Given the description of an element on the screen output the (x, y) to click on. 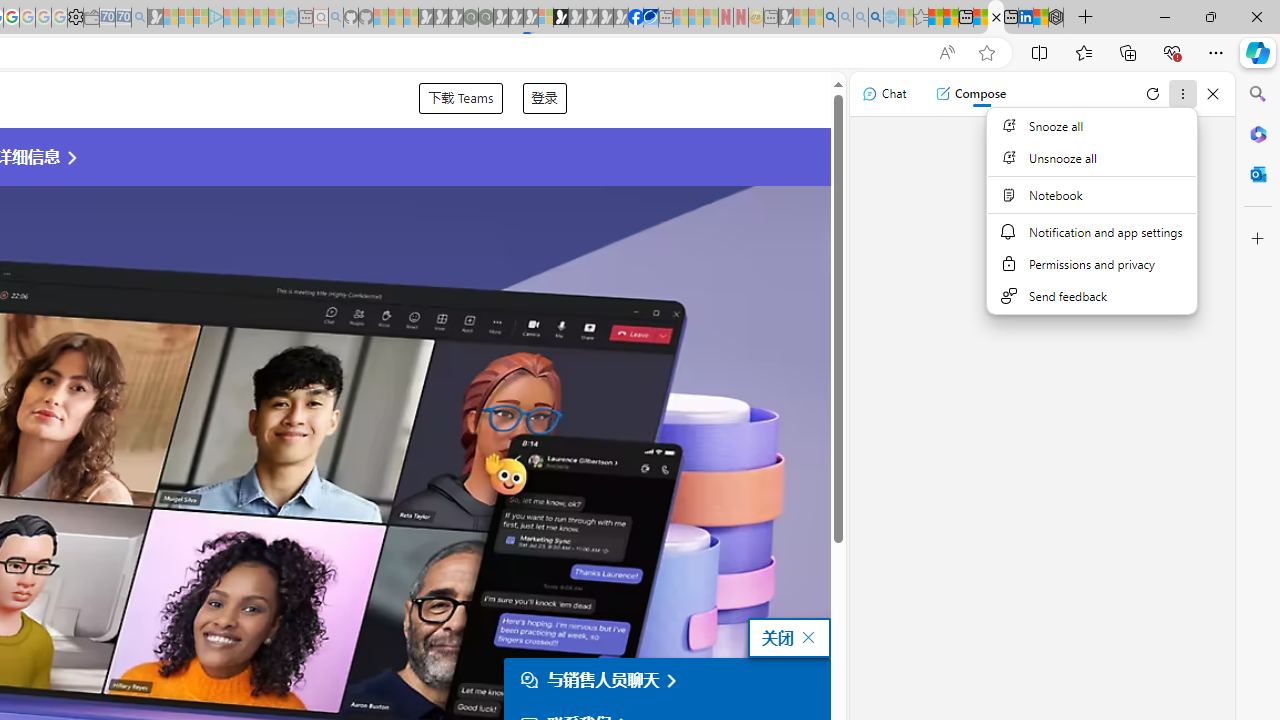
Notification and app settings (1091, 231)
Nordace - Summer Adventures 2024 (1055, 17)
LinkedIn (1025, 17)
Home | Sky Blue Bikes - Sky Blue Bikes - Sleeping (291, 17)
Bing Real Estate - Home sales and rental listings - Sleeping (139, 17)
